Given the description of an element on the screen output the (x, y) to click on. 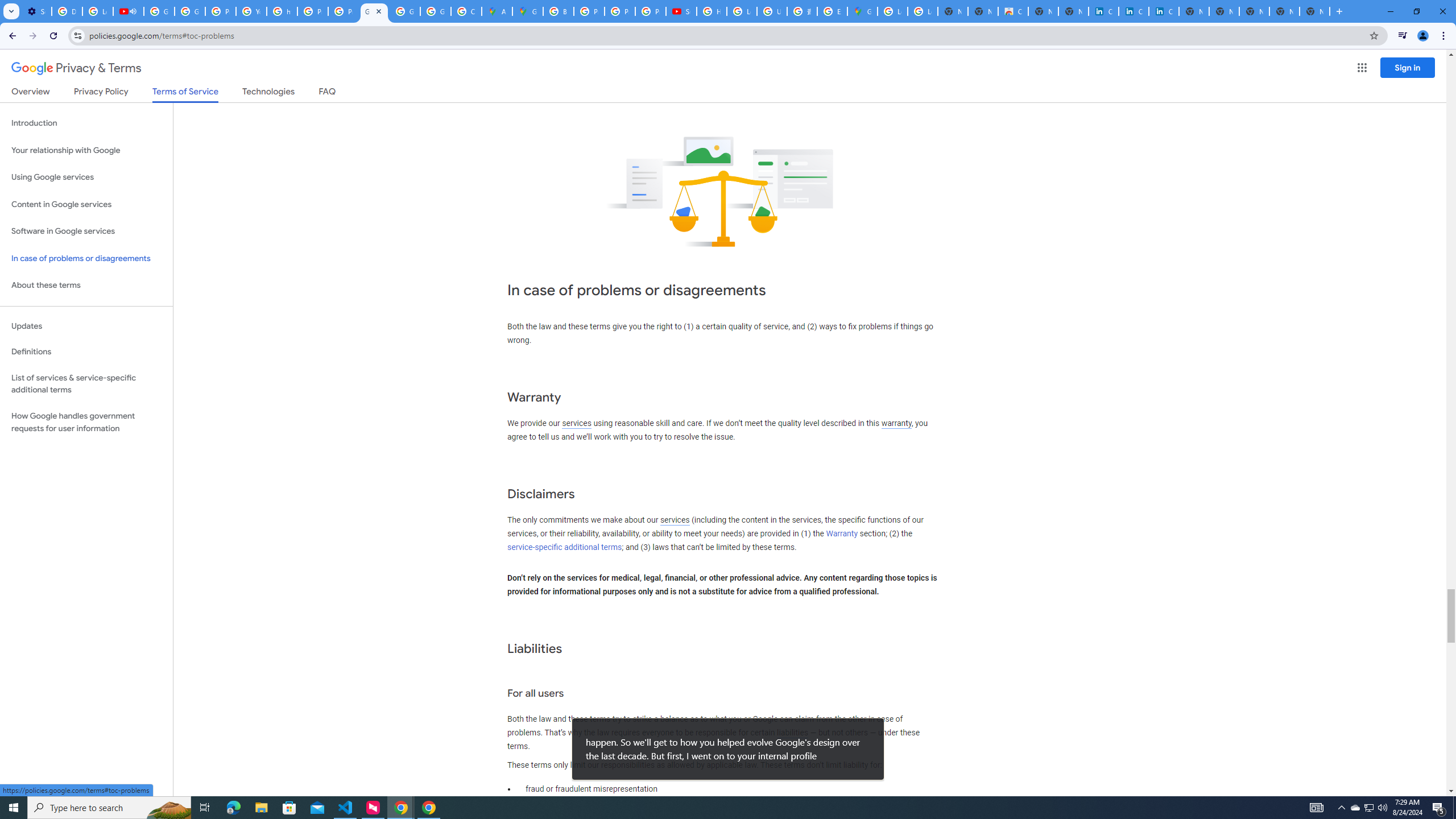
liabilities (792, 732)
Cookie Policy | LinkedIn (1133, 11)
Google Account Help (158, 11)
Delete photos & videos - Computer - Google Photos Help (66, 11)
services (674, 520)
